Given the description of an element on the screen output the (x, y) to click on. 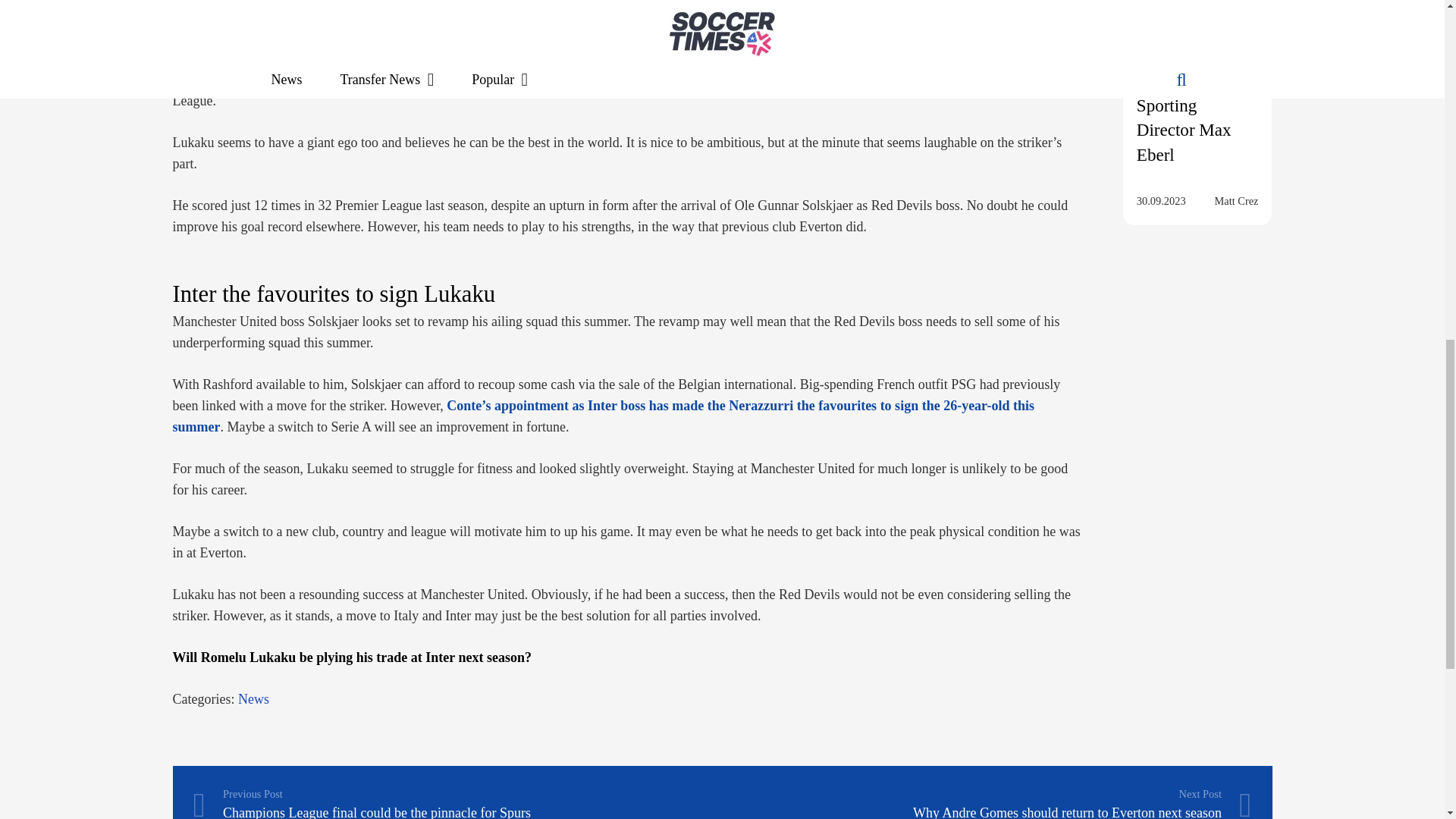
Champions League final could be the pinnacle for Spurs (457, 802)
Matt Crez (1236, 200)
RB Leipzig fire Sporting Director Max Eberl (1197, 46)
Why Andre Gomes should return to Everton next season (986, 802)
Back to top (1413, 37)
News (253, 698)
RB Leipzig fire Sporting Director Max Eberl (1191, 117)
